Given the description of an element on the screen output the (x, y) to click on. 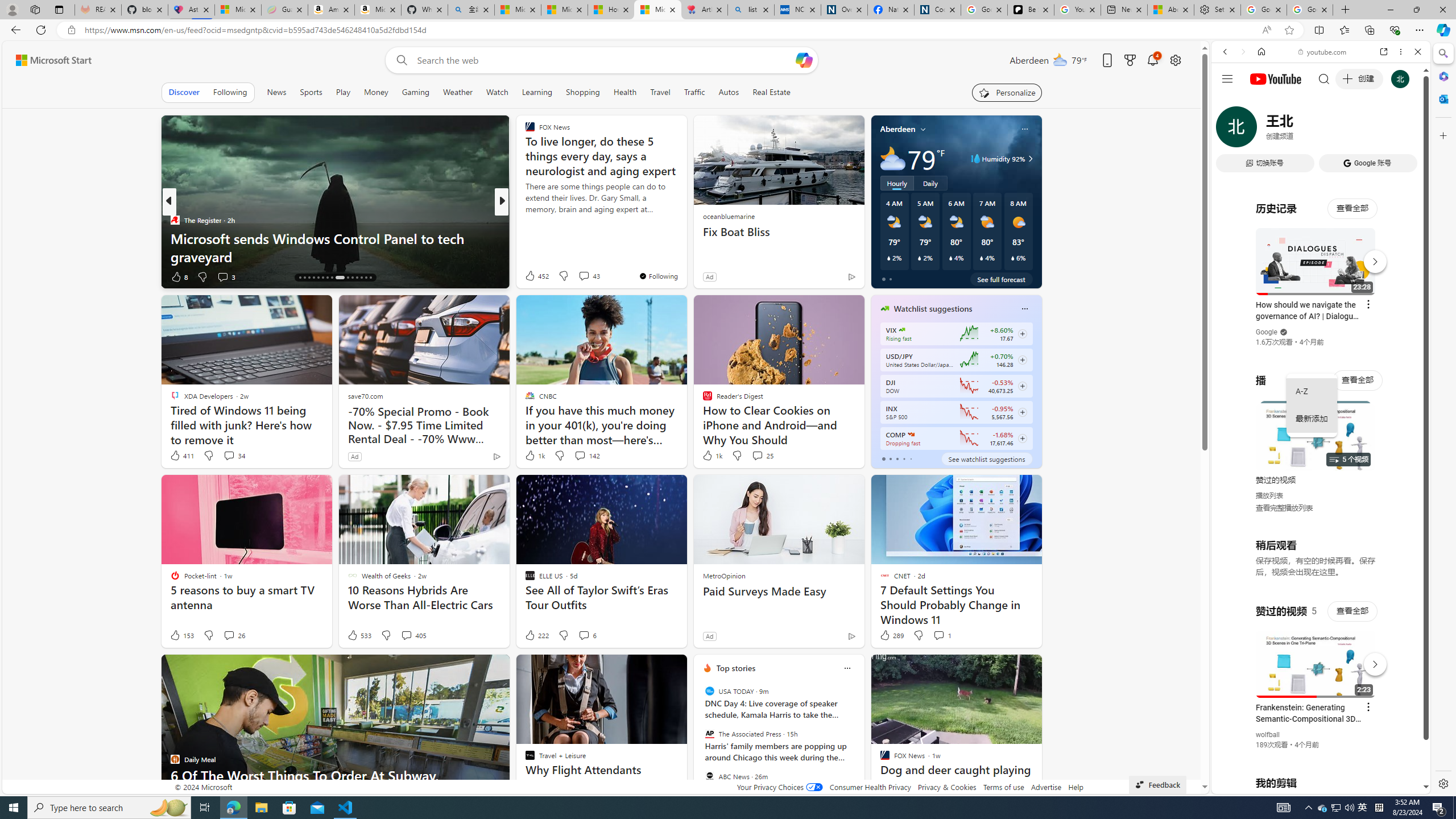
View comments 34 Comment (233, 455)
View comments 25 Comment (761, 455)
Health (624, 92)
View comments 3 Comment (226, 276)
tab-4 (910, 458)
Play (342, 92)
AutomationID: tab-17 (304, 277)
